Given the description of an element on the screen output the (x, y) to click on. 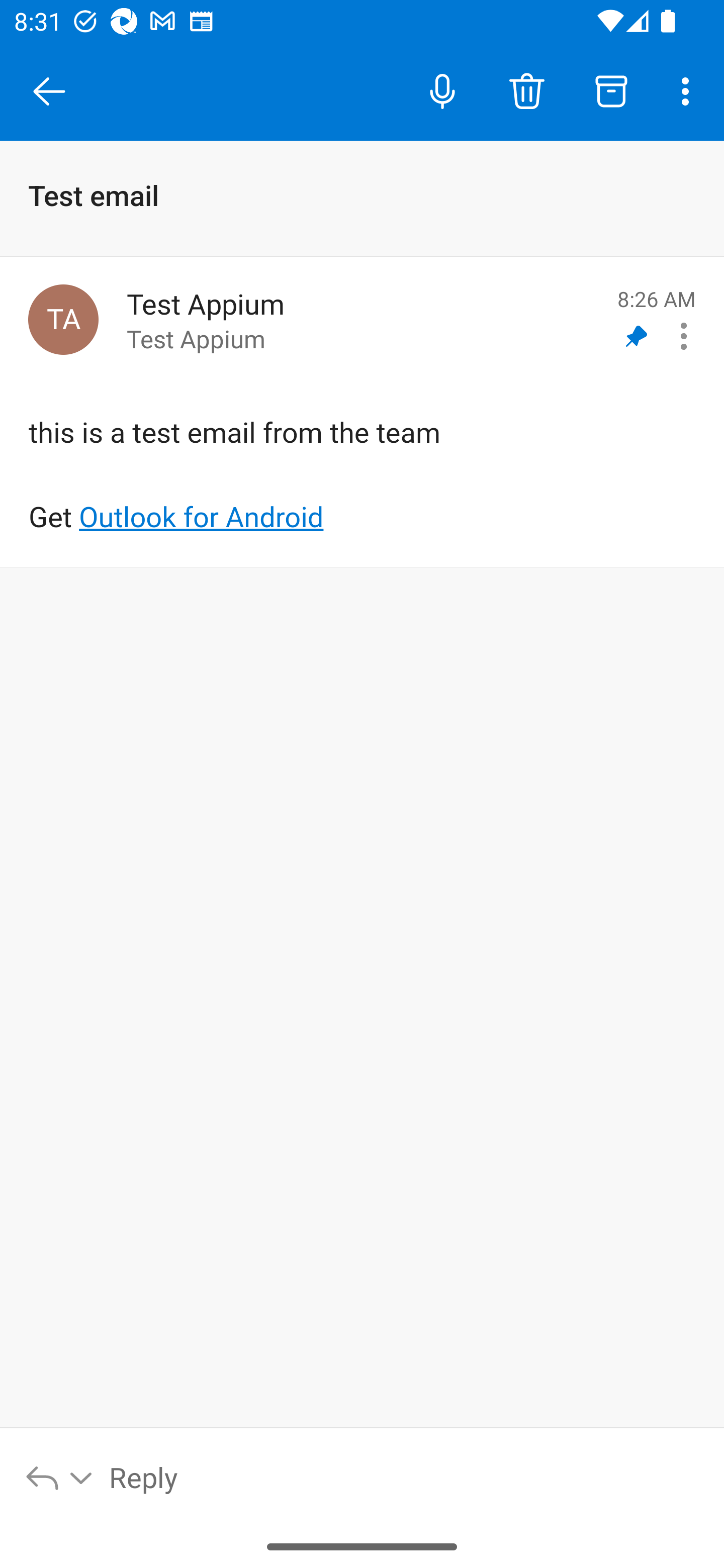
Close (49, 91)
Delete (526, 90)
Archive (611, 90)
More options (688, 90)
Test Appium, testappium002@outlook.com (63, 318)
Test Appium
to Test Appium (364, 319)
Message actions (683, 336)
Outlook for Android (201, 517)
Reply options (59, 1476)
